Given the description of an element on the screen output the (x, y) to click on. 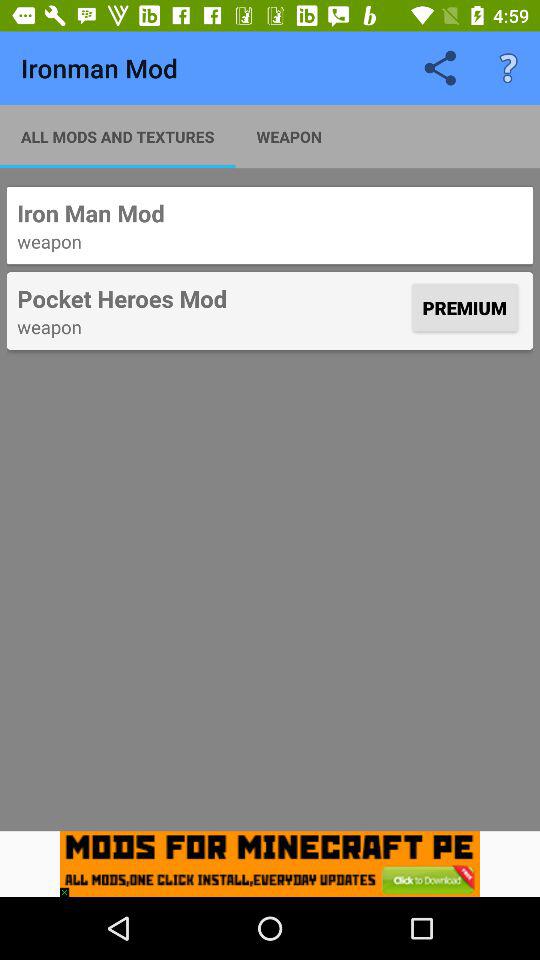
select the item below weapon icon (464, 307)
